Given the description of an element on the screen output the (x, y) to click on. 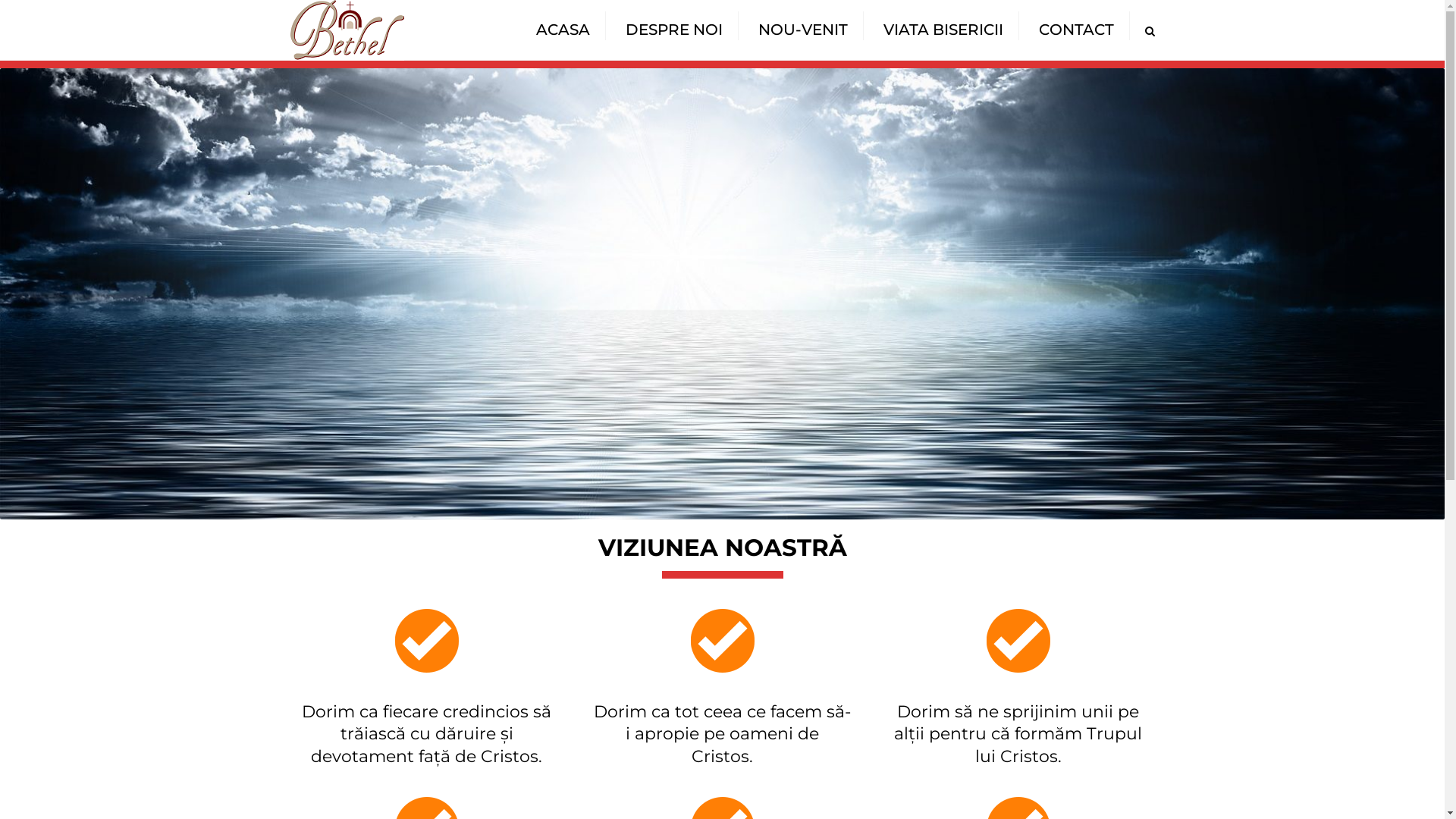
DESPRE NOI Element type: text (673, 29)
CONTACT Element type: text (1076, 29)
Viziune Biserica Evanghelica Romana Zurich Element type: hover (722, 293)
VIATA BISERICII Element type: text (942, 29)
NOU-VENIT Element type: text (802, 29)
Search Element type: text (1149, 30)
ACASA Element type: text (561, 29)
